Given the description of an element on the screen output the (x, y) to click on. 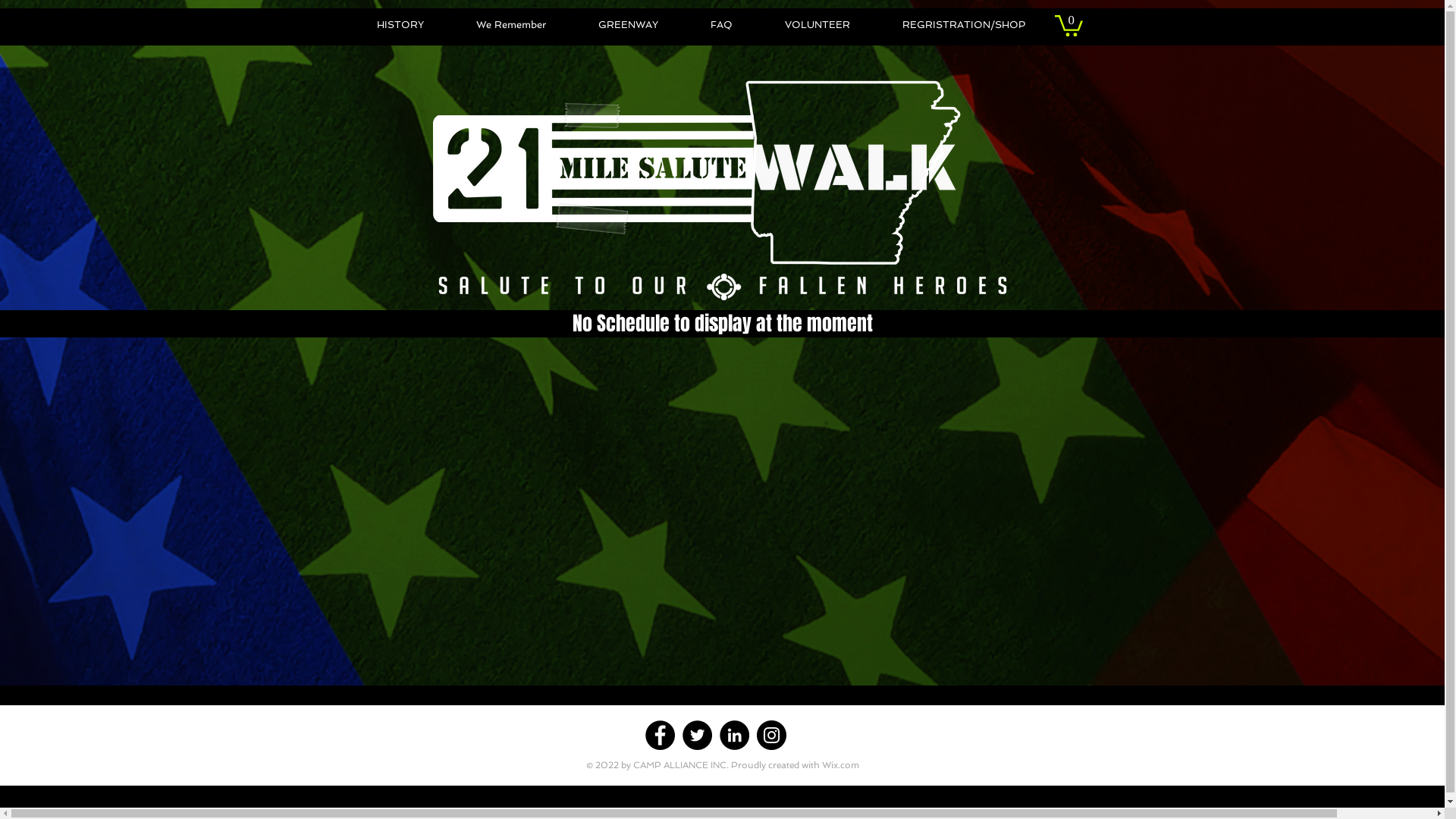
FAQ Element type: text (721, 24)
Wix.com Element type: text (840, 764)
HISTORY Element type: text (399, 24)
GREENWAY Element type: text (627, 24)
We Remember Element type: text (511, 24)
REGRISTRATION/SHOP Element type: text (963, 24)
0 Element type: text (1068, 24)
VOLUNTEER Element type: text (816, 24)
